Given the description of an element on the screen output the (x, y) to click on. 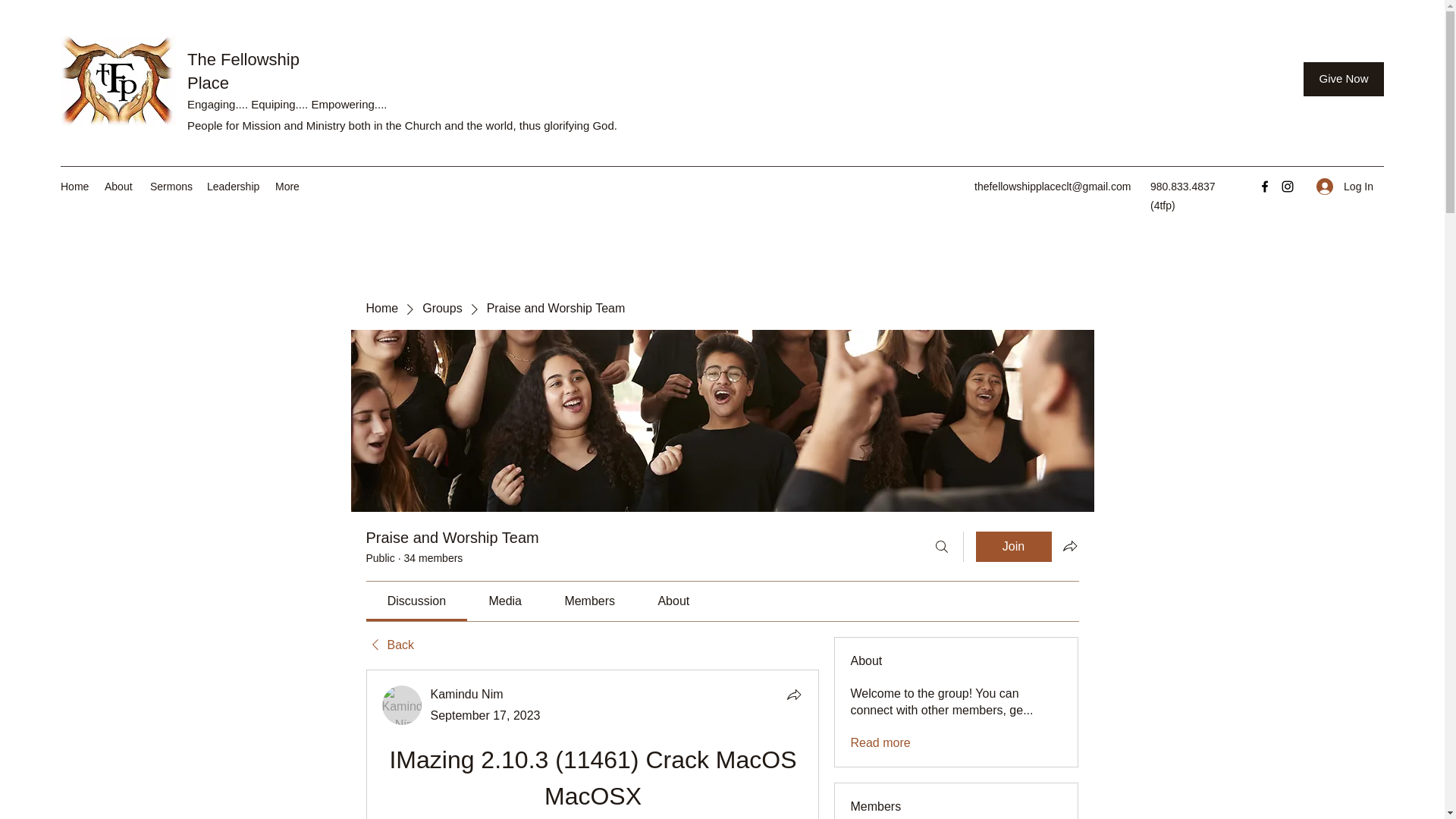
Groups (441, 308)
Home (74, 186)
About (119, 186)
Join (1013, 546)
Read more (880, 742)
Kamindu Nim (401, 704)
Home (381, 308)
The Fellowship Place (243, 70)
Log In (1345, 186)
Give Now (1343, 79)
